Given the description of an element on the screen output the (x, y) to click on. 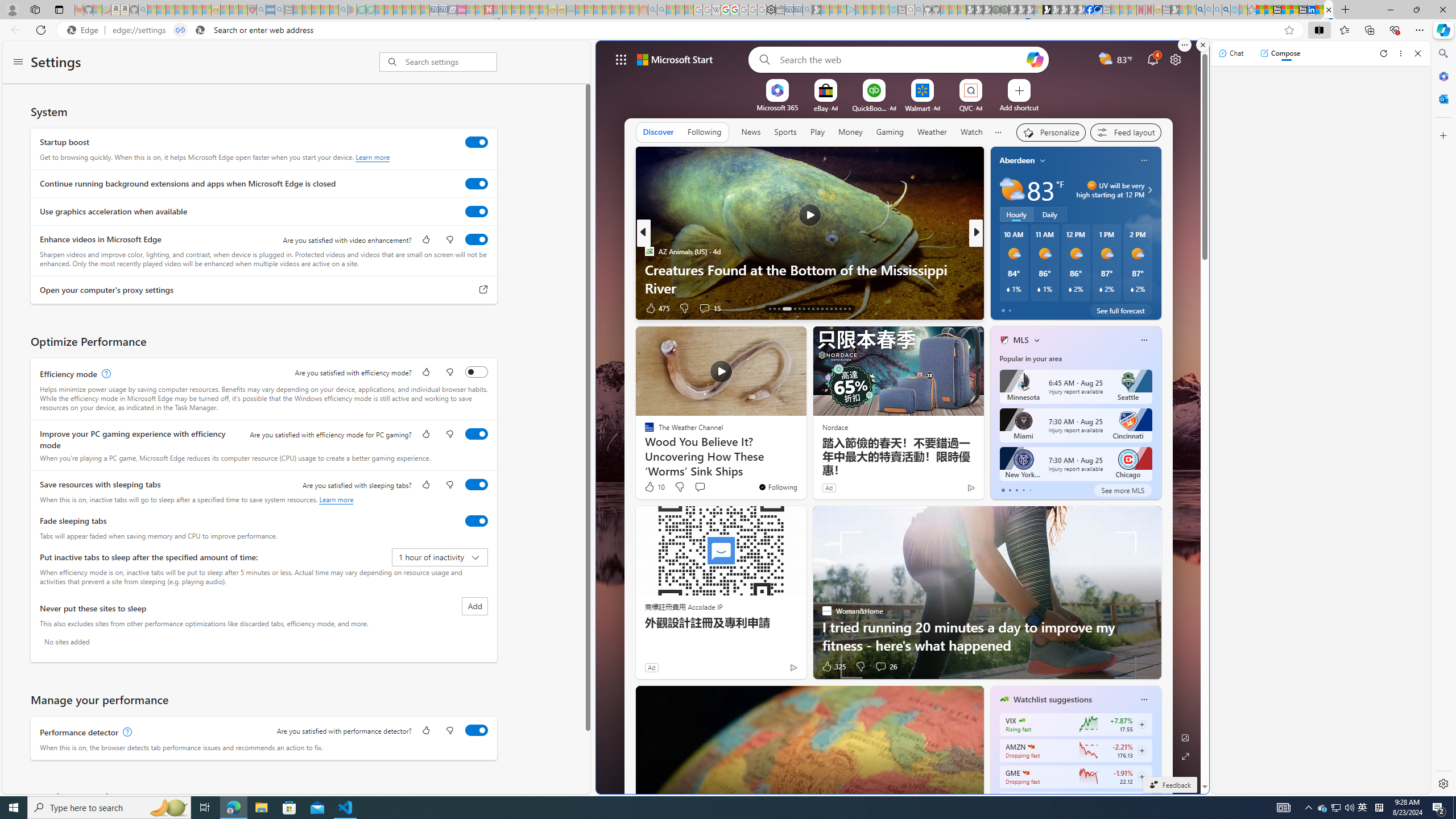
8 Things I Did to Lose 25 Pounds in 6 Months (1159, 287)
Class: icon-img (1143, 699)
MLS (1021, 339)
2 Like (1003, 307)
Performance detector, learn more (126, 732)
AutomationID: tab-24 (826, 308)
tab-3 (1022, 489)
